Given the description of an element on the screen output the (x, y) to click on. 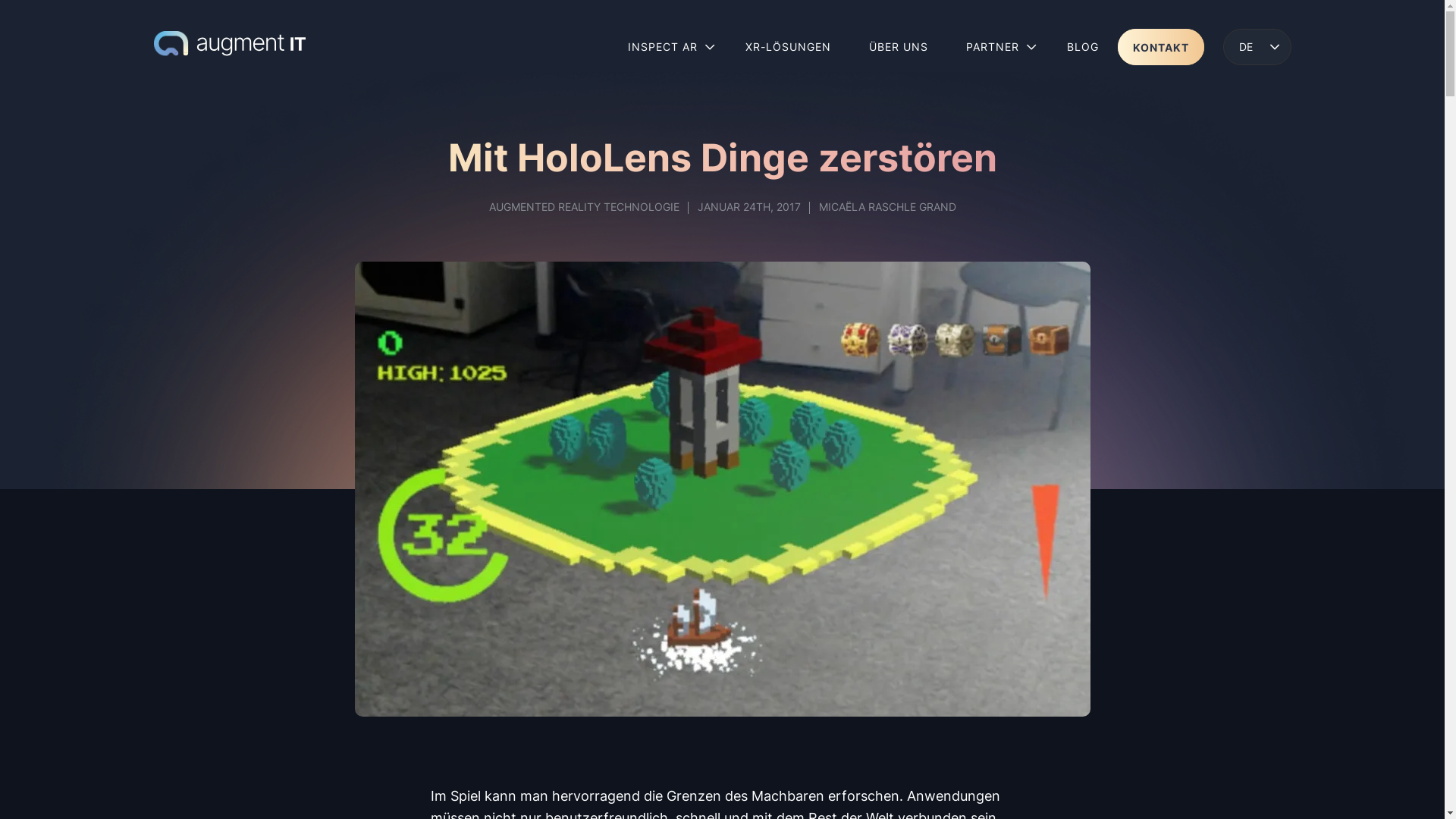
BLOG Element type: text (1082, 46)
INSPECT AR Element type: text (666, 46)
AUGMENTED REALITY TECHNOLOGIE Element type: text (583, 206)
PARTNER Element type: text (996, 46)
KONTAKT Element type: text (1160, 46)
DEUTSCH Element type: text (1256, 46)
